Given the description of an element on the screen output the (x, y) to click on. 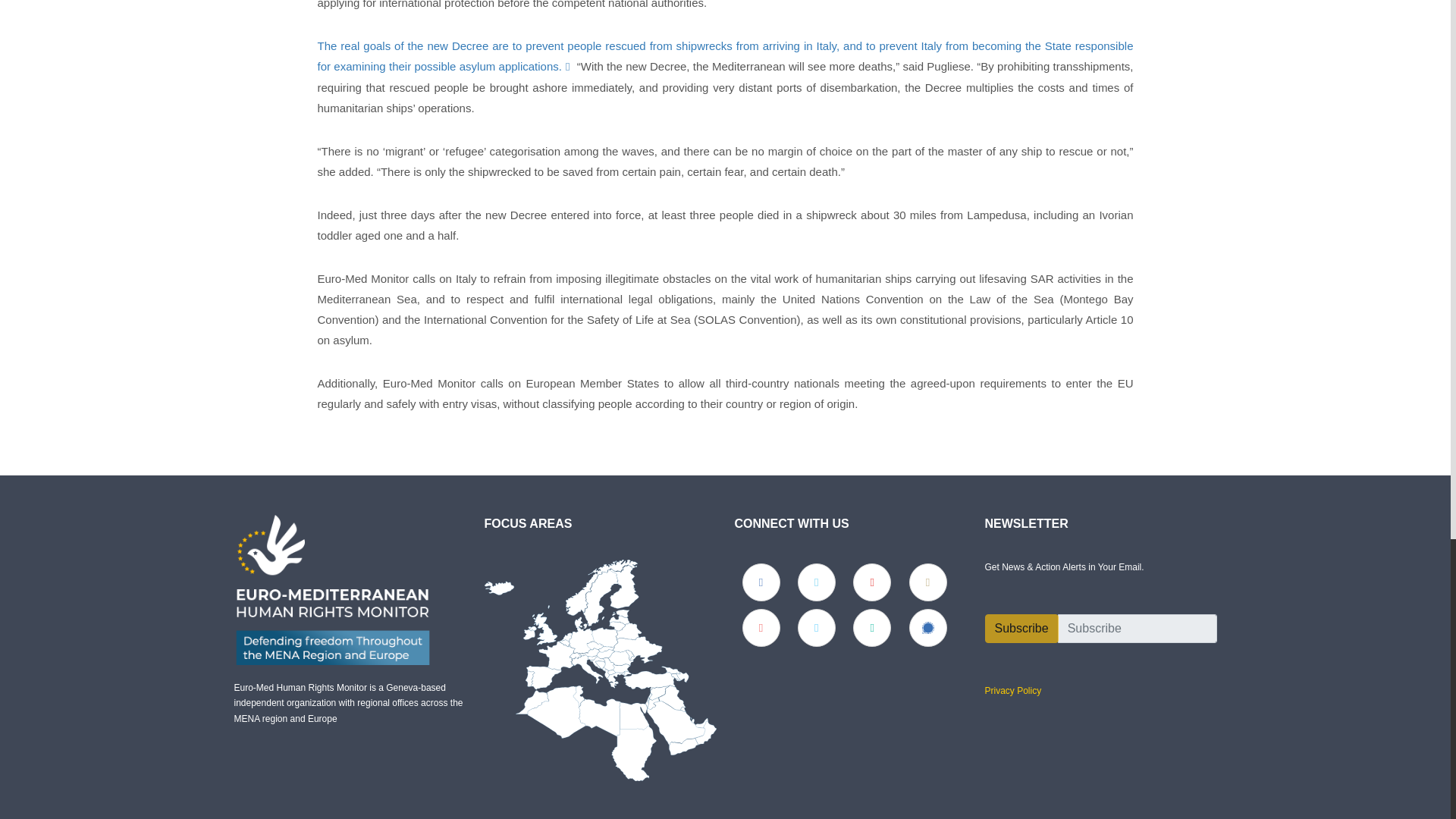
Privacy Policy (1012, 690)
